Given the description of an element on the screen output the (x, y) to click on. 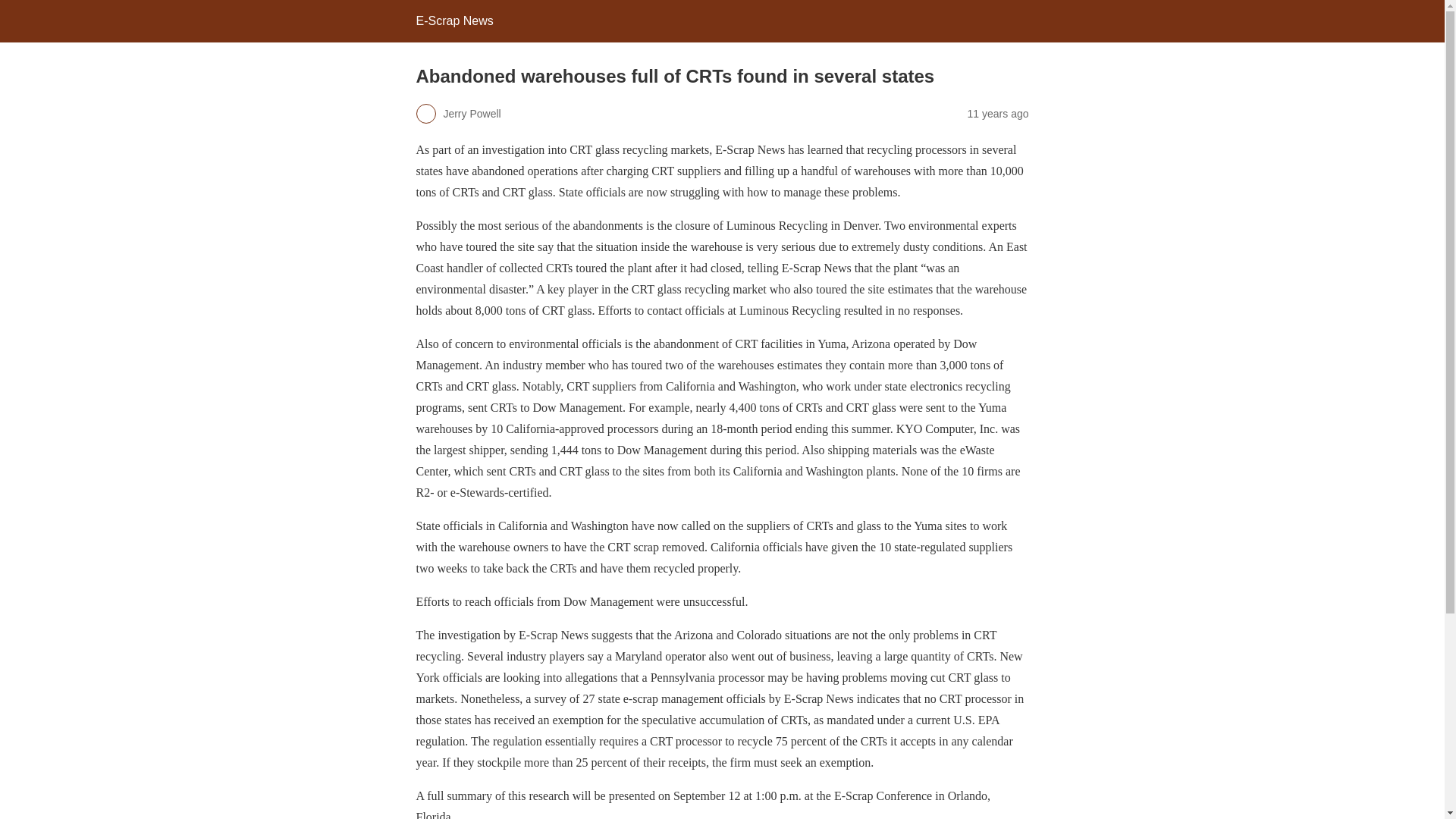
E-Scrap News (453, 20)
